Given the description of an element on the screen output the (x, y) to click on. 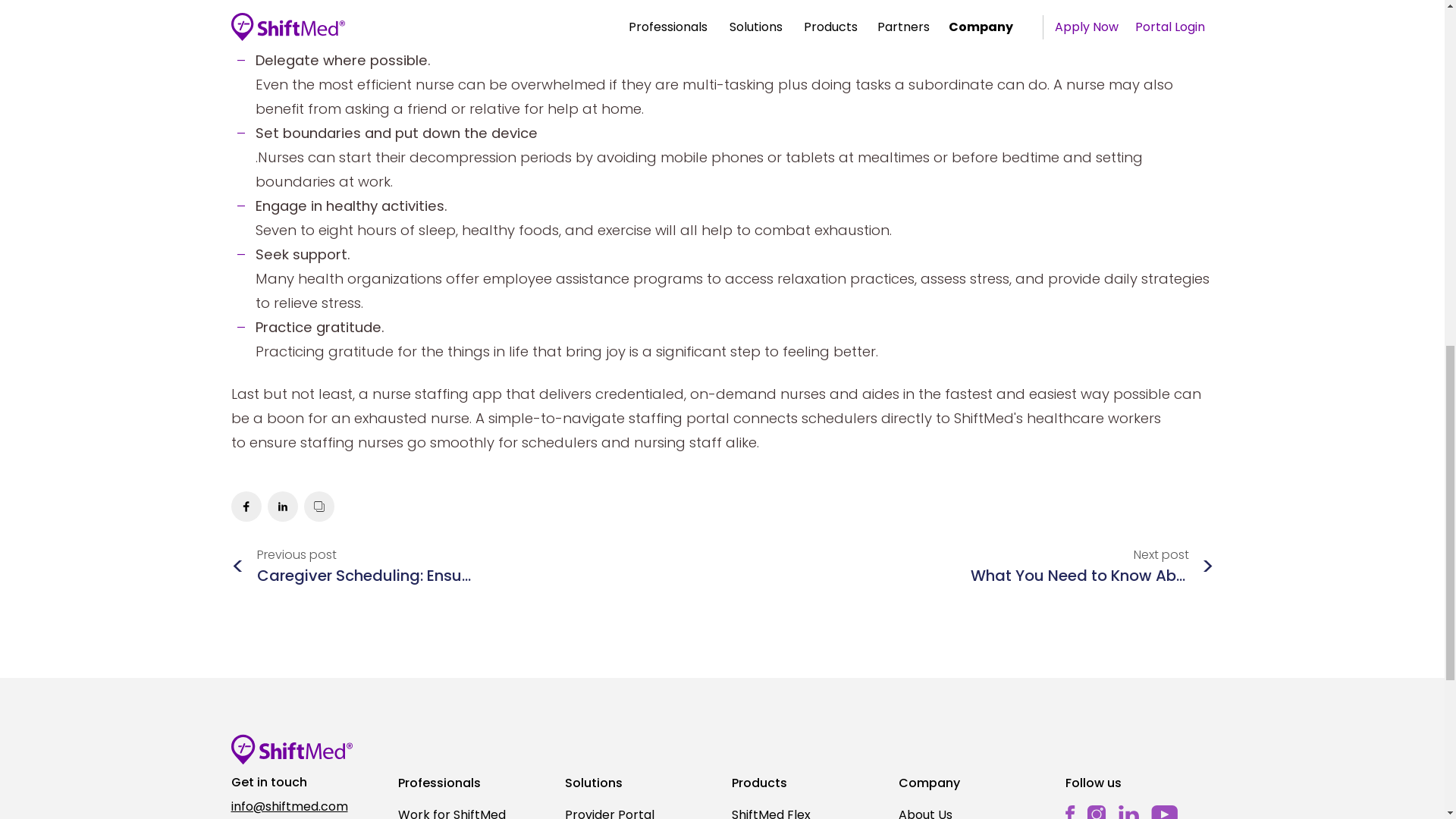
1-800-485-9002 (304, 817)
Work for ShiftMed (471, 812)
Provider Portal (638, 812)
About Us (972, 812)
ShiftMed Flex (804, 812)
